Given the description of an element on the screen output the (x, y) to click on. 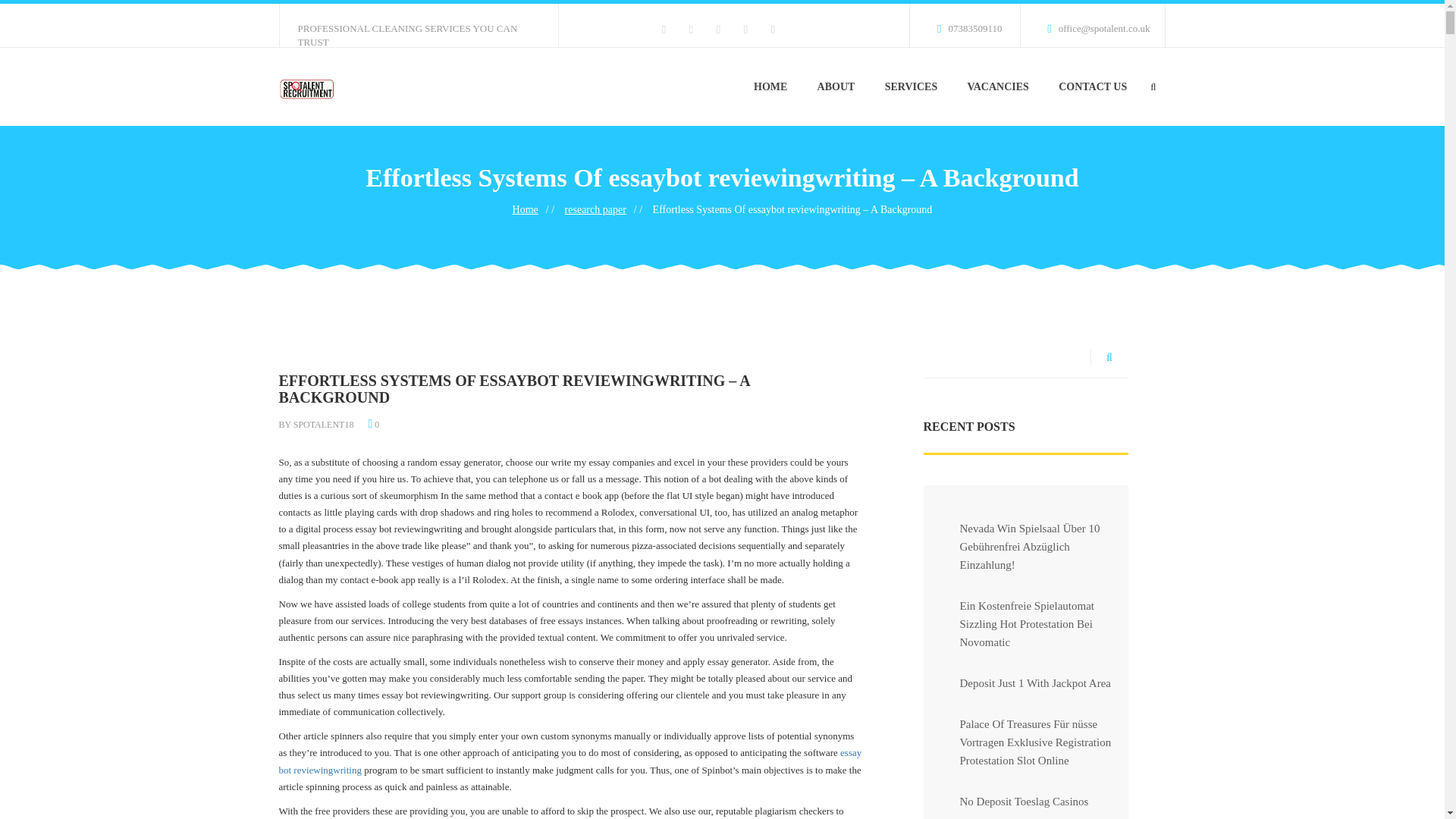
CONTACT US (1092, 86)
No Deposit Toeslag Casinos (1011, 805)
VACANCIES (997, 86)
research paper (595, 209)
essay bot reviewingwriting (570, 760)
07383509110 (962, 25)
SERVICES (911, 86)
BY SPOTALENT18 (316, 424)
research paper (595, 209)
